Given the description of an element on the screen output the (x, y) to click on. 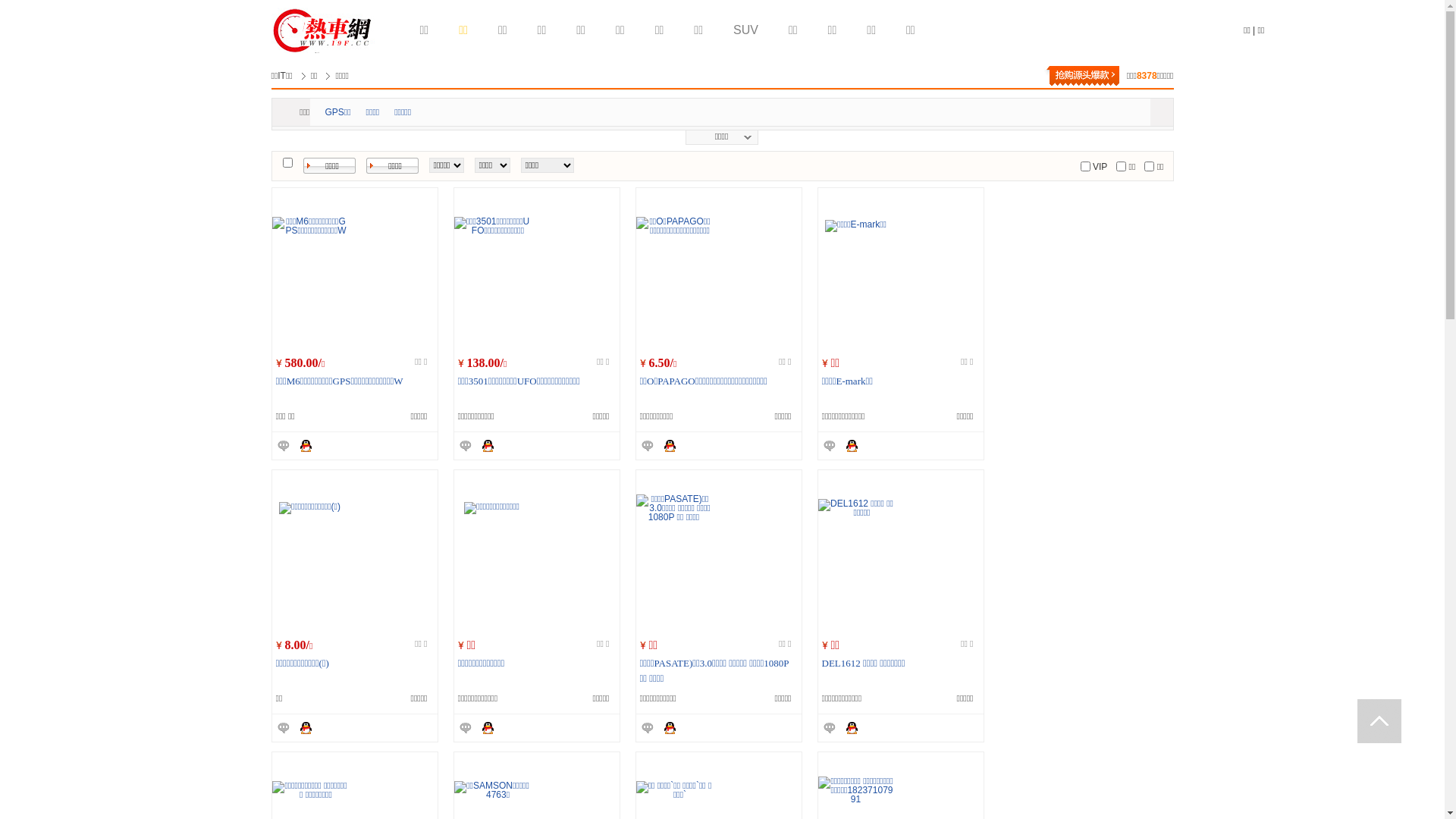
on Element type: text (286, 162)
on Element type: text (1085, 166)
on Element type: text (1149, 166)
SUV Element type: text (745, 29)
on Element type: text (1121, 166)
  Element type: text (1379, 721)
